Given the description of an element on the screen output the (x, y) to click on. 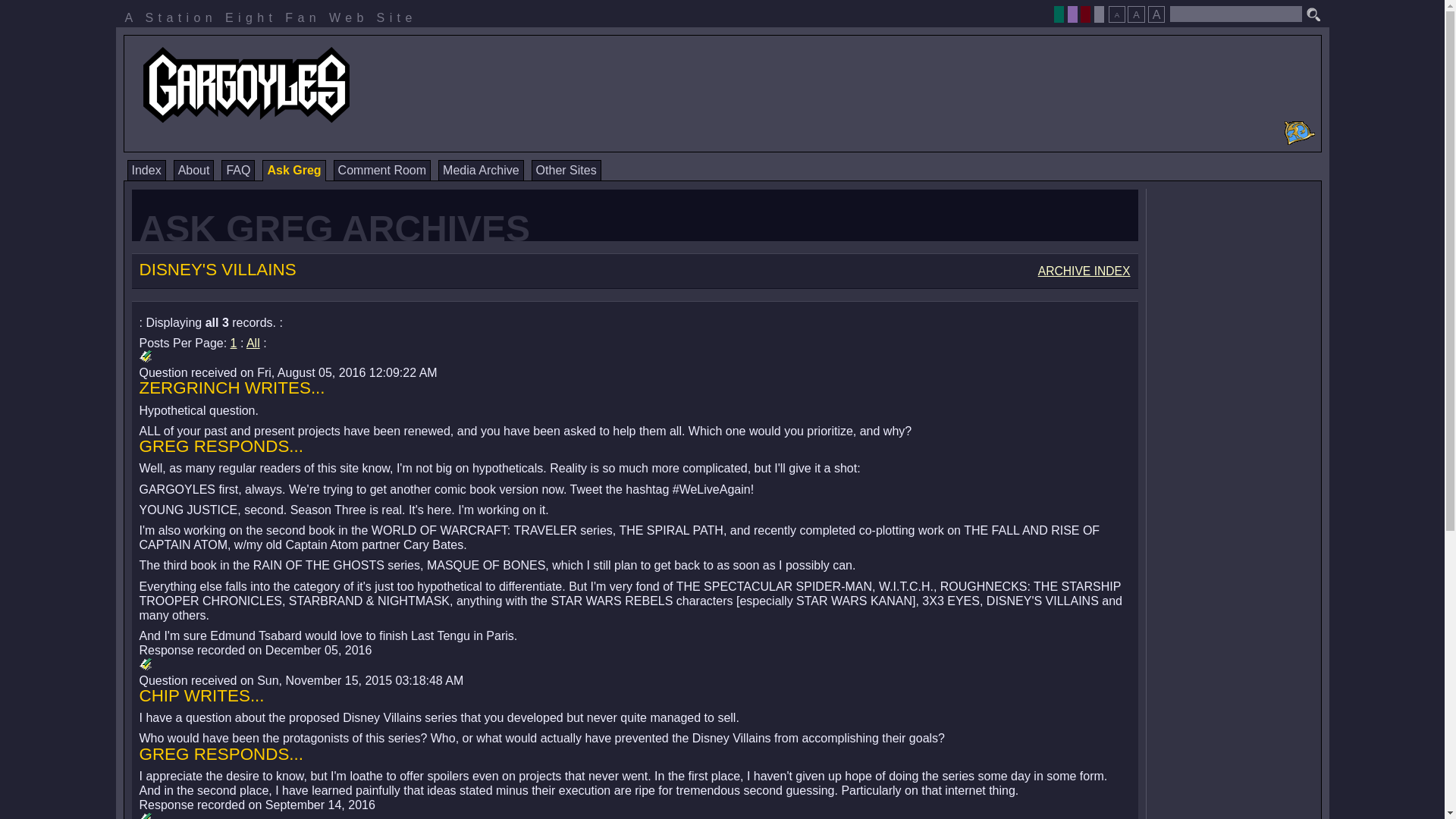
Comment Room (381, 169)
Index (146, 169)
Standard Font Size (1135, 13)
ARCHIVE INDEX (1084, 270)
A (1116, 13)
Large Font Size (1156, 13)
A (1156, 13)
Other Sites (566, 169)
Media Archive (481, 169)
Ask Greg (293, 169)
FAQ (237, 169)
Select the font size the best suits your needs. (1135, 9)
All (253, 342)
A (1135, 13)
Small Font Size (1116, 13)
